Given the description of an element on the screen output the (x, y) to click on. 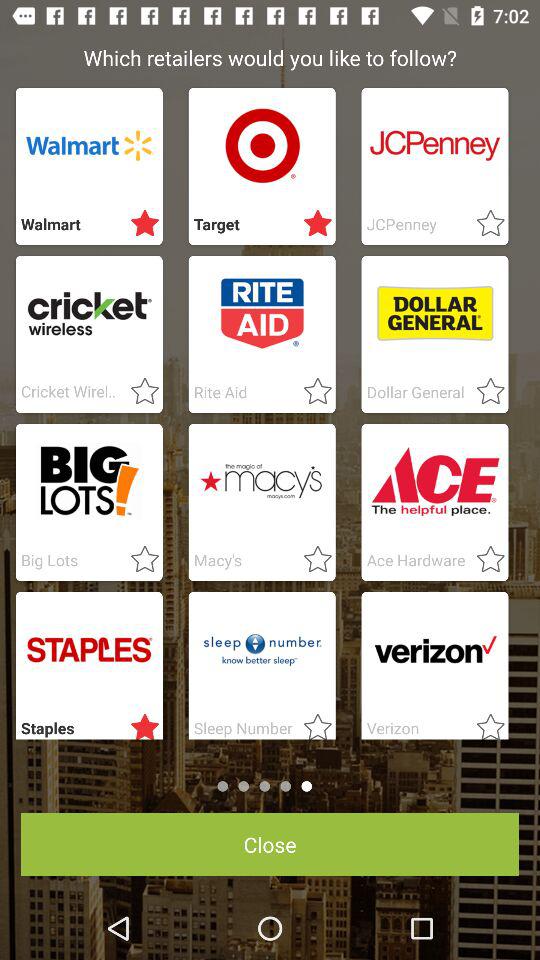
go to ratings (312, 224)
